Given the description of an element on the screen output the (x, y) to click on. 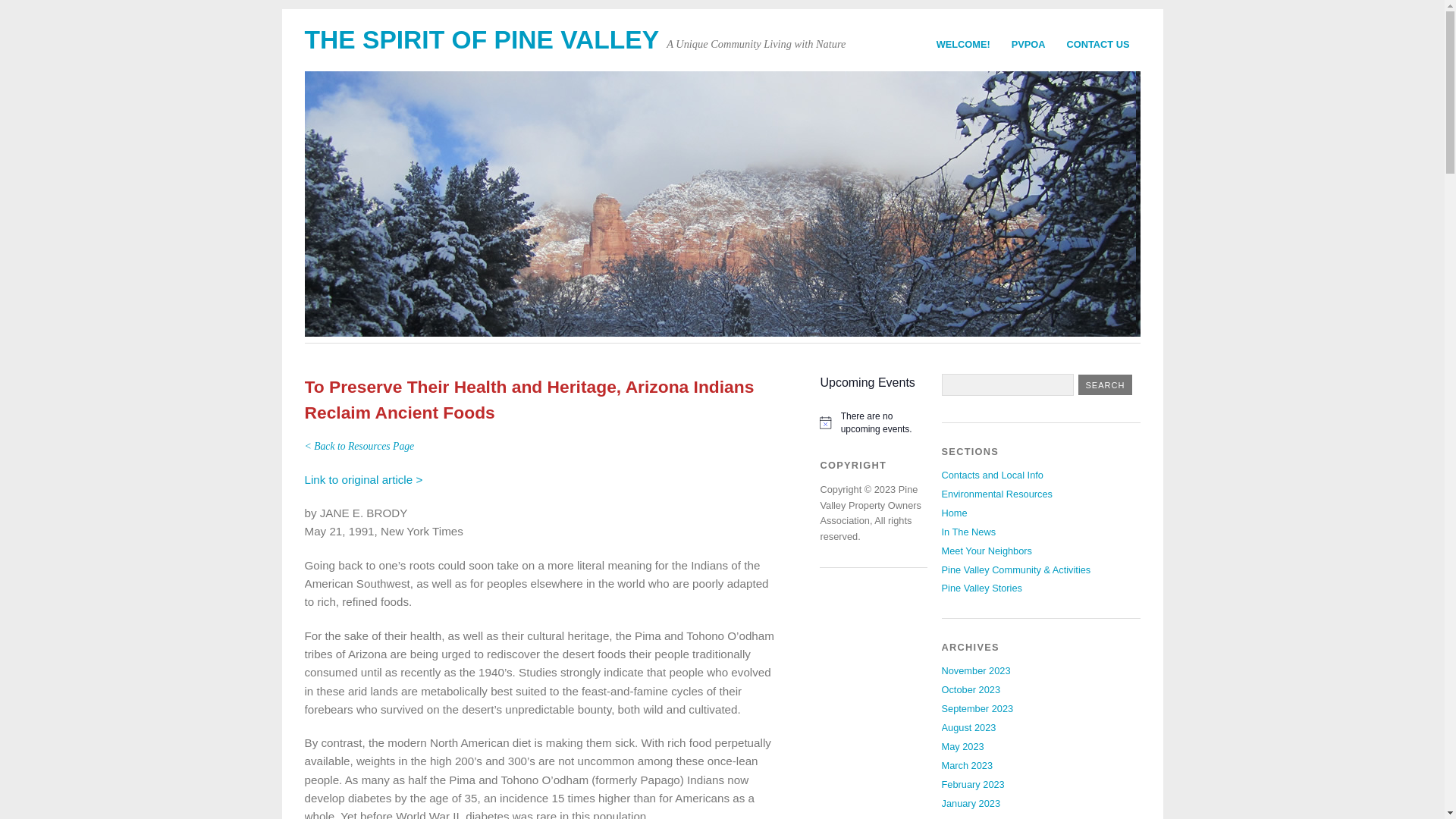
CONTACT US (1098, 43)
Environmental Resources (997, 493)
February 2023 (973, 784)
November 2023 (976, 670)
November 2022 (976, 817)
Home (955, 512)
Search (1105, 384)
PVPOA (1029, 43)
Search (1105, 384)
September 2023 (977, 708)
